Given the description of an element on the screen output the (x, y) to click on. 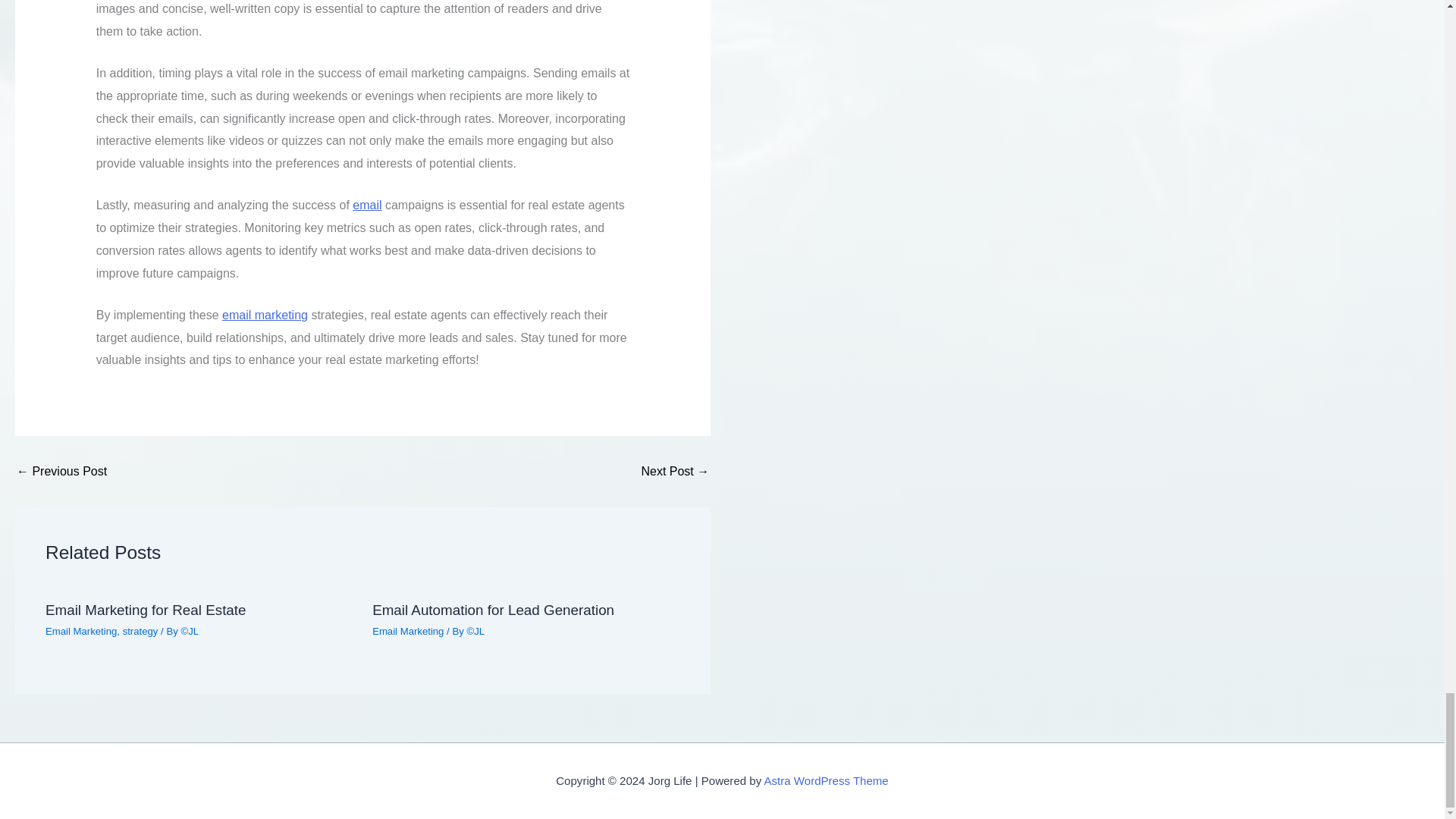
Email Automation for Lead Generation (493, 609)
Email Marketing (80, 631)
strategy (140, 631)
email (366, 205)
email marketing (264, 314)
Email Marketing (408, 631)
Email Marketing for Real Estate (145, 609)
